Given the description of an element on the screen output the (x, y) to click on. 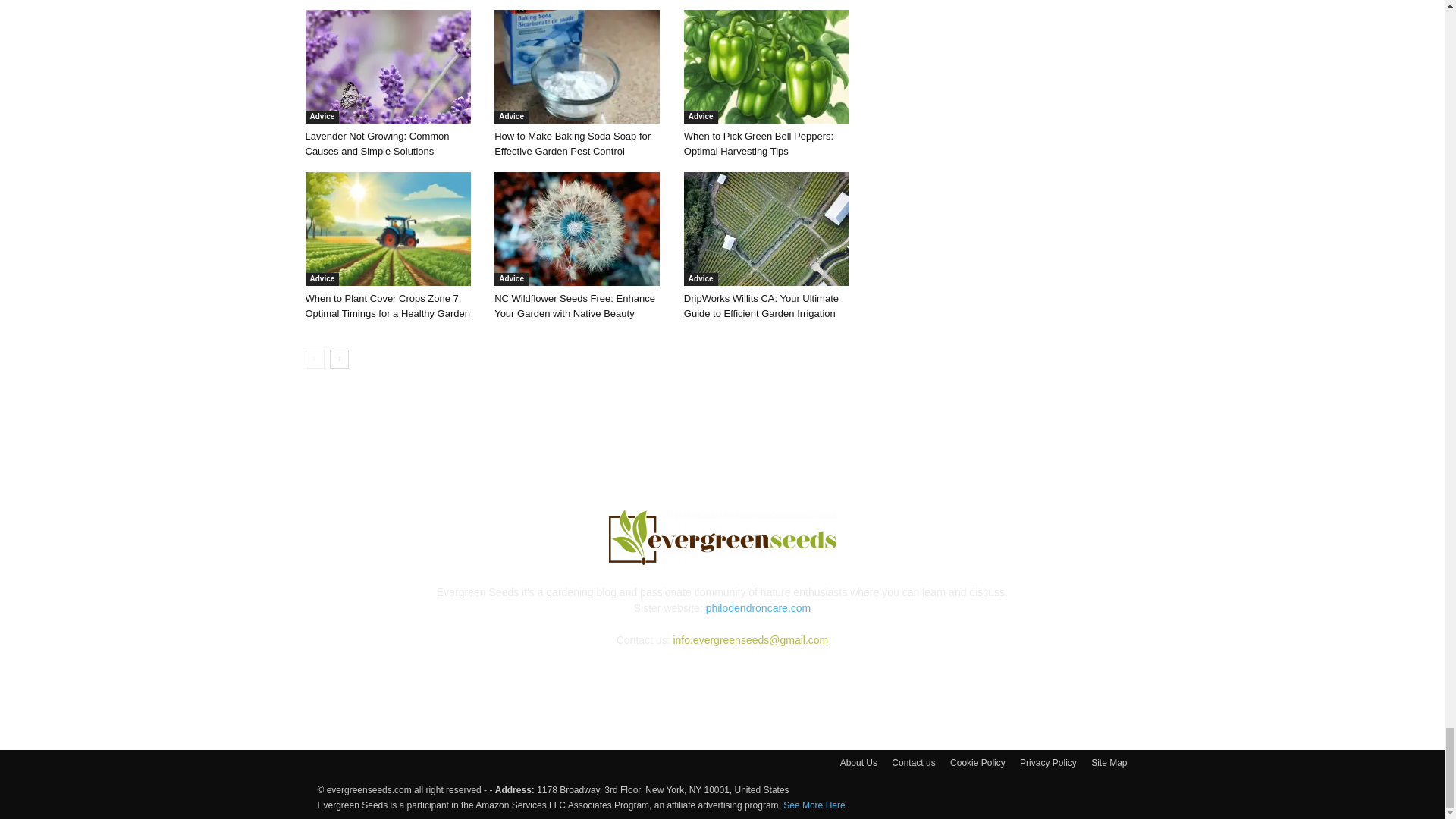
Lavender Not Growing: Common Causes and Simple Solutions (391, 66)
Lavender Not Growing: Common Causes and Simple Solutions (376, 143)
Lavender Not Growing: Common Causes and Simple Solutions (387, 66)
